Given the description of an element on the screen output the (x, y) to click on. 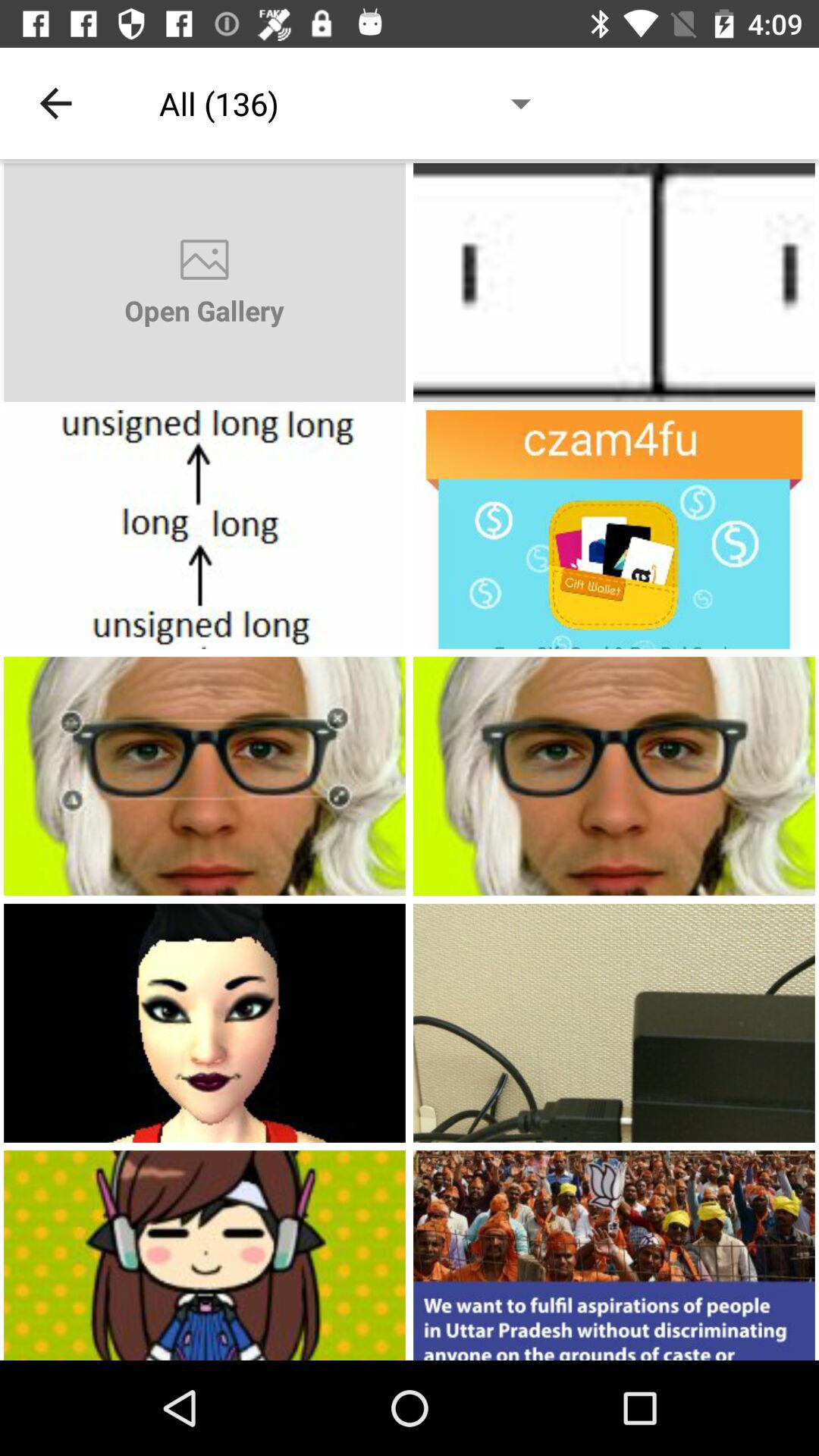
open a photo (204, 529)
